Given the description of an element on the screen output the (x, y) to click on. 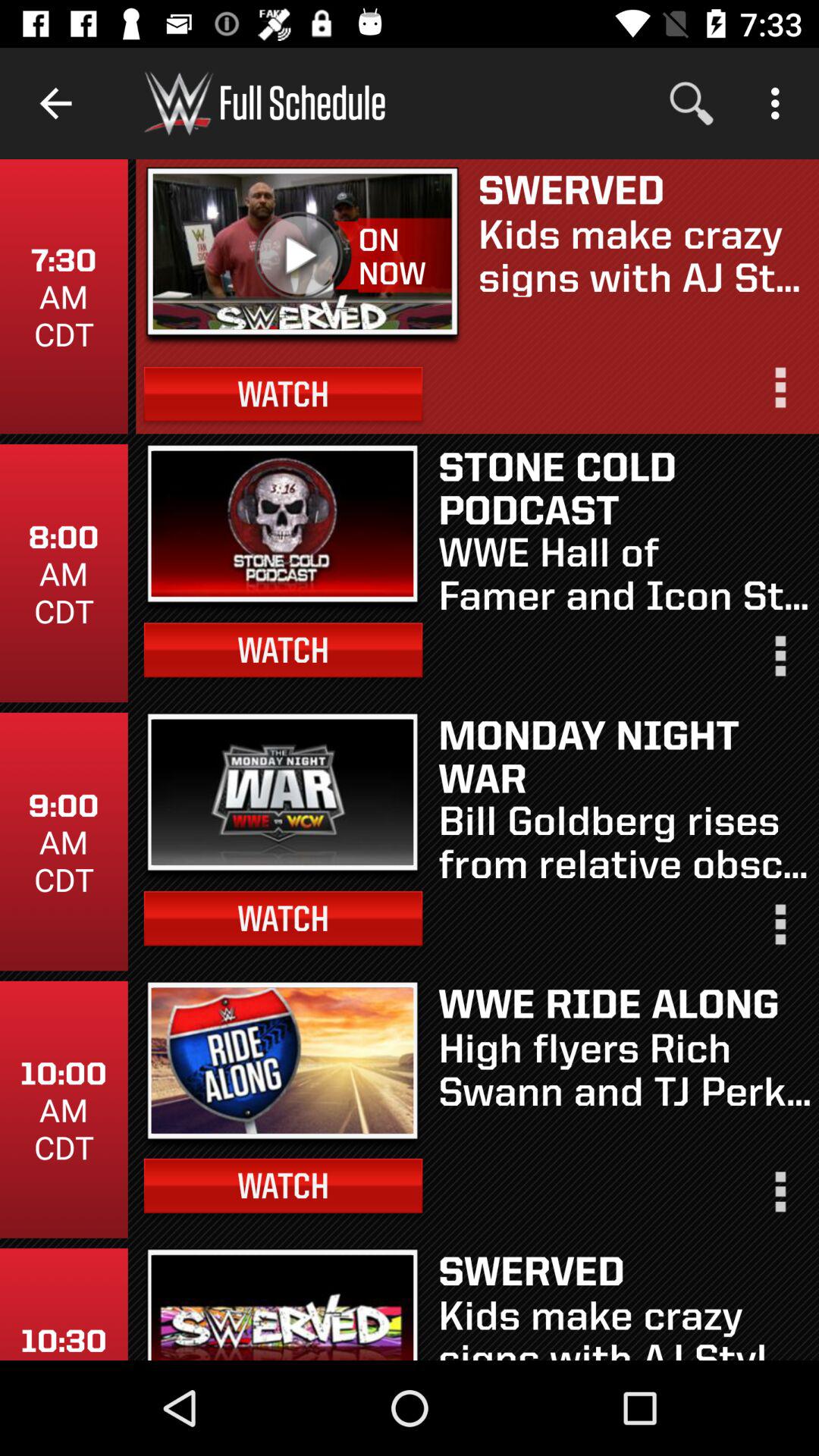
selection settings and options (779, 662)
